Given the description of an element on the screen output the (x, y) to click on. 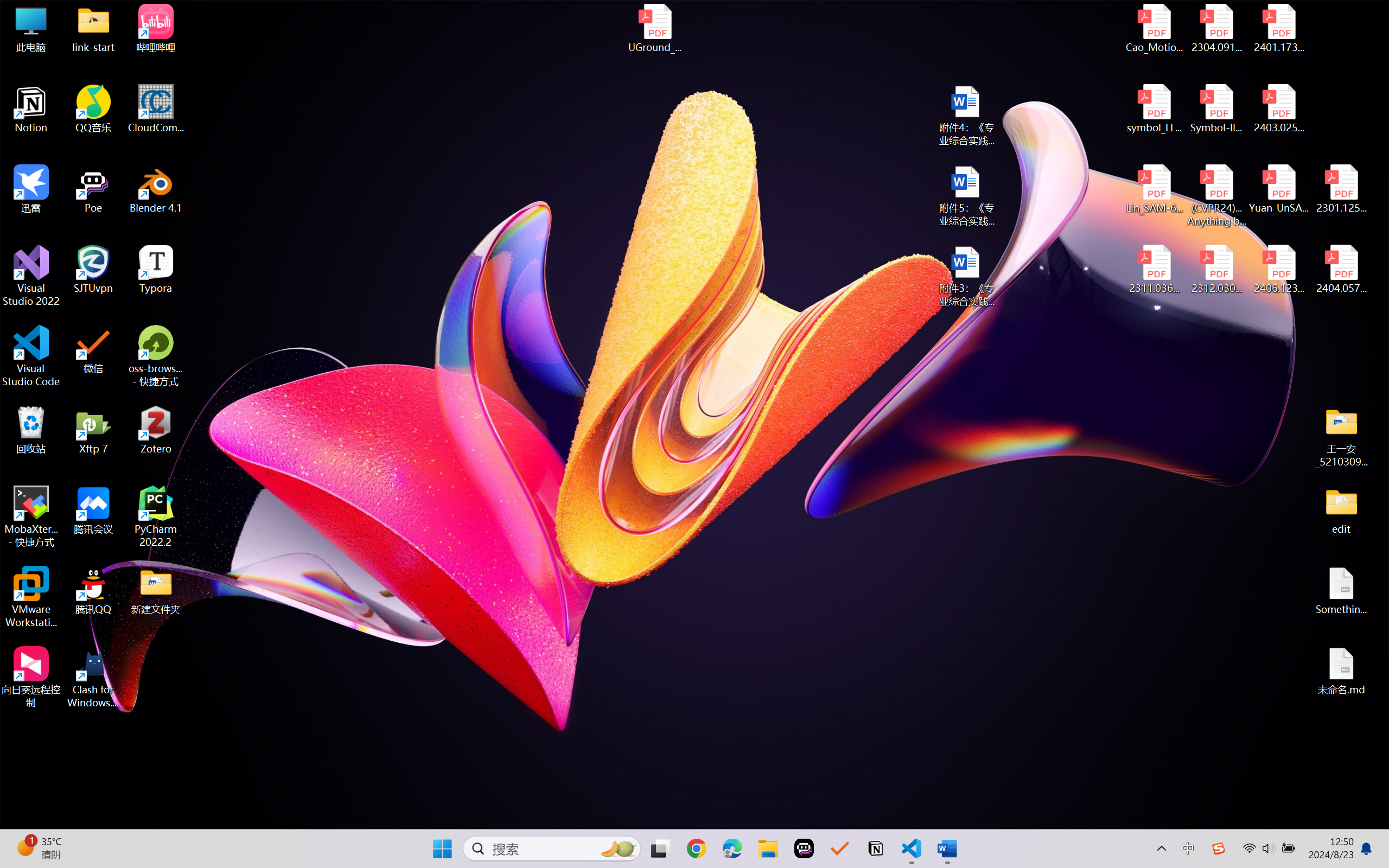
Xftp 7 (93, 430)
Blender 4.1 (156, 189)
Visual Studio 2022 (31, 276)
Visual Studio Code (31, 355)
